Given the description of an element on the screen output the (x, y) to click on. 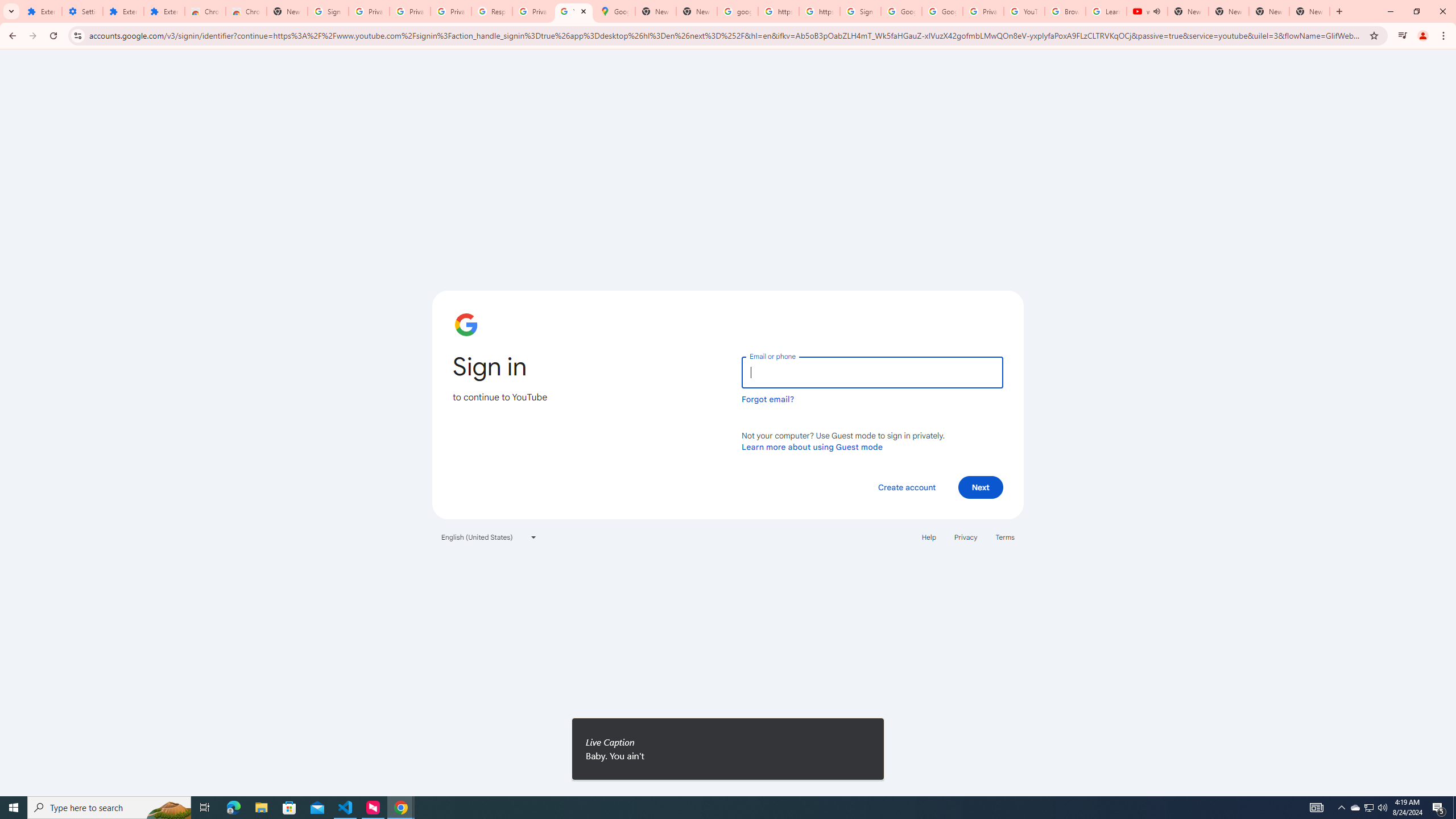
English (United States) (489, 536)
Learn more about using Guest mode (812, 446)
YouTube (573, 11)
New Tab (287, 11)
https://scholar.google.com/ (818, 11)
